Given the description of an element on the screen output the (x, y) to click on. 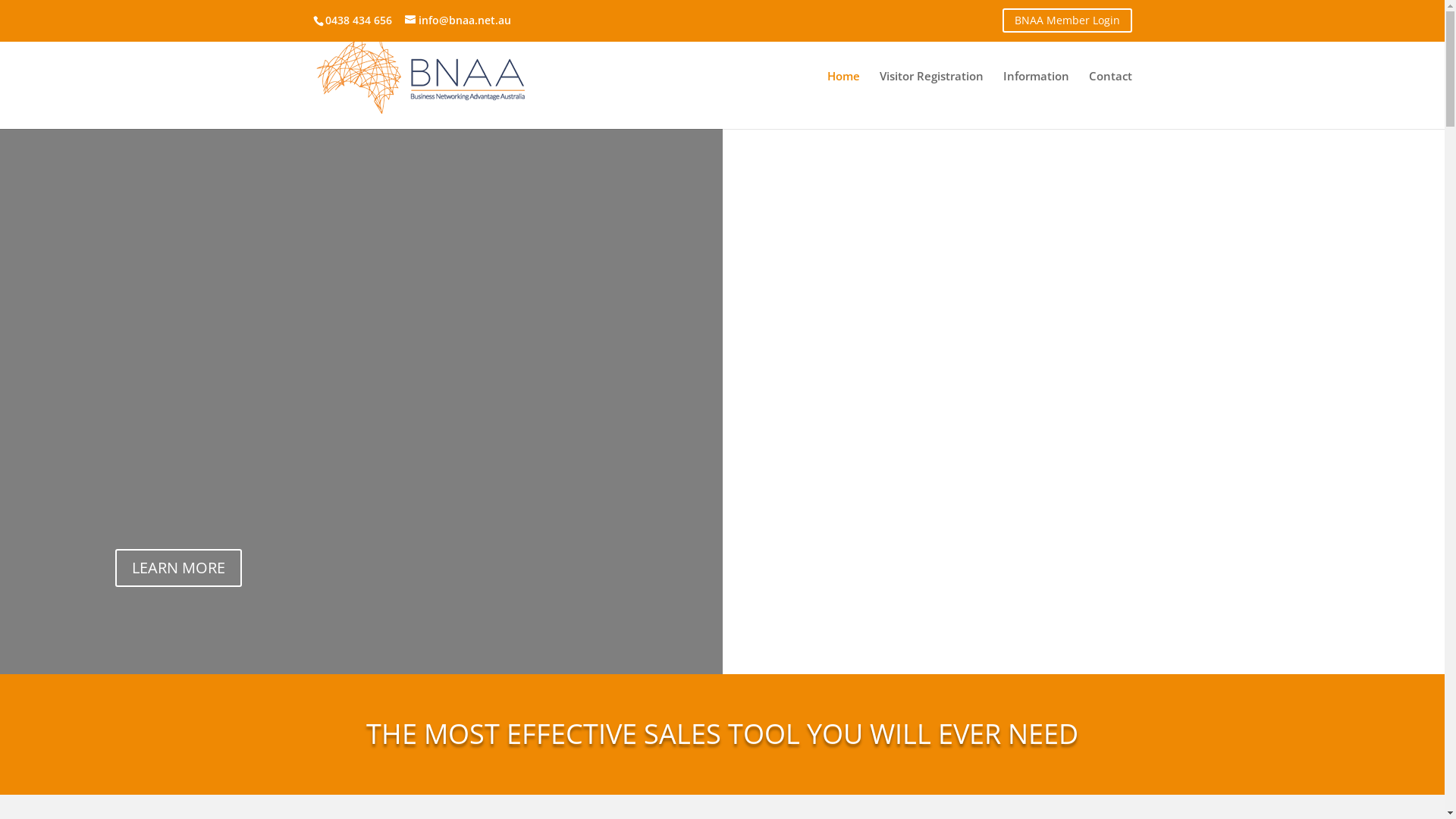
info@bnaa.net.au Element type: text (457, 19)
LEARN MORE Element type: text (178, 567)
BNAA Member Login Element type: text (1067, 19)
Home Element type: text (842, 99)
Contact Element type: text (1110, 99)
Visitor Registration Element type: text (931, 99)
Information Element type: text (1035, 99)
